Given the description of an element on the screen output the (x, y) to click on. 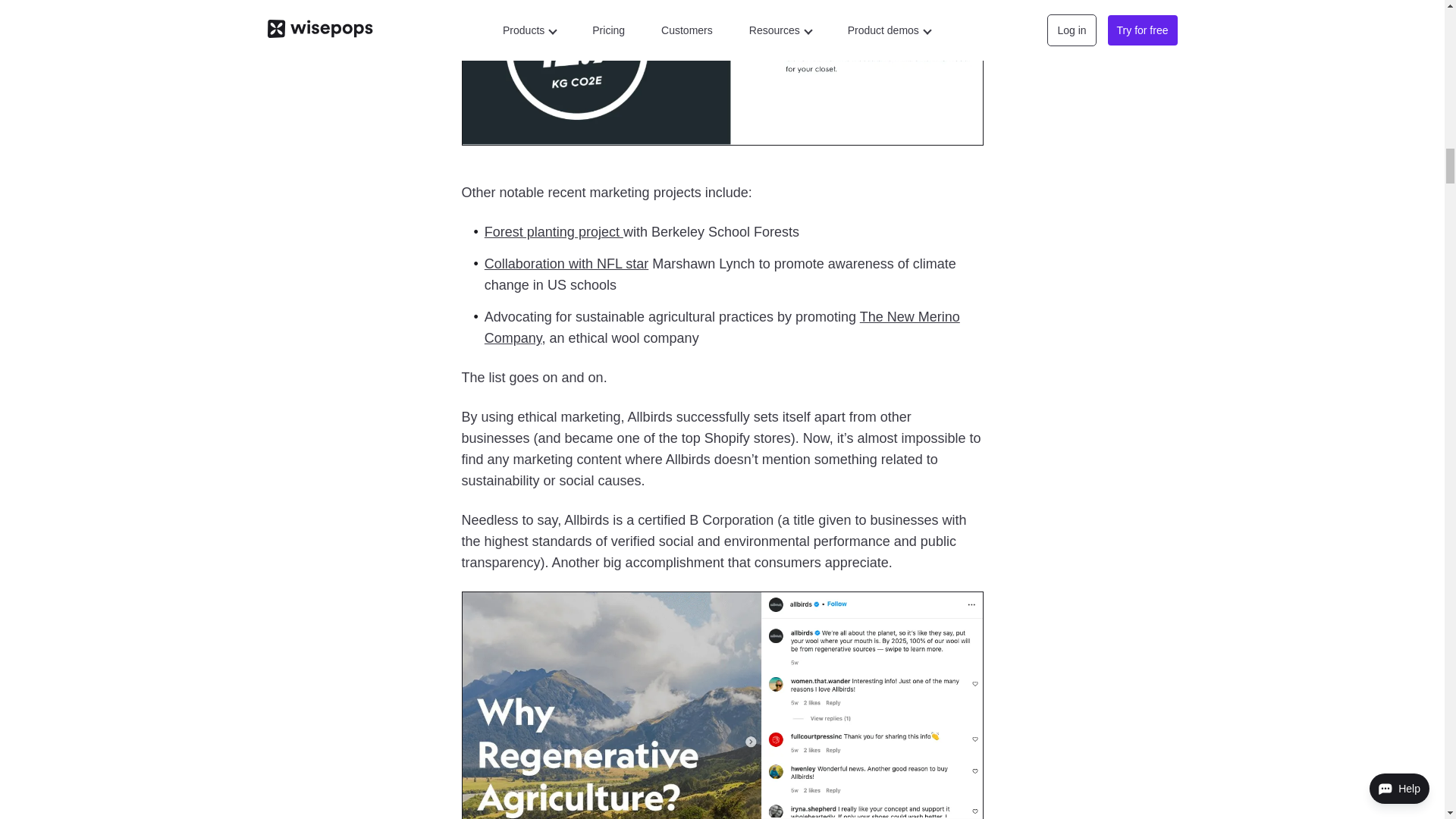
The New Merino Company (721, 327)
Forest planting project (553, 231)
Collaboration with NFL star (565, 263)
